Given the description of an element on the screen output the (x, y) to click on. 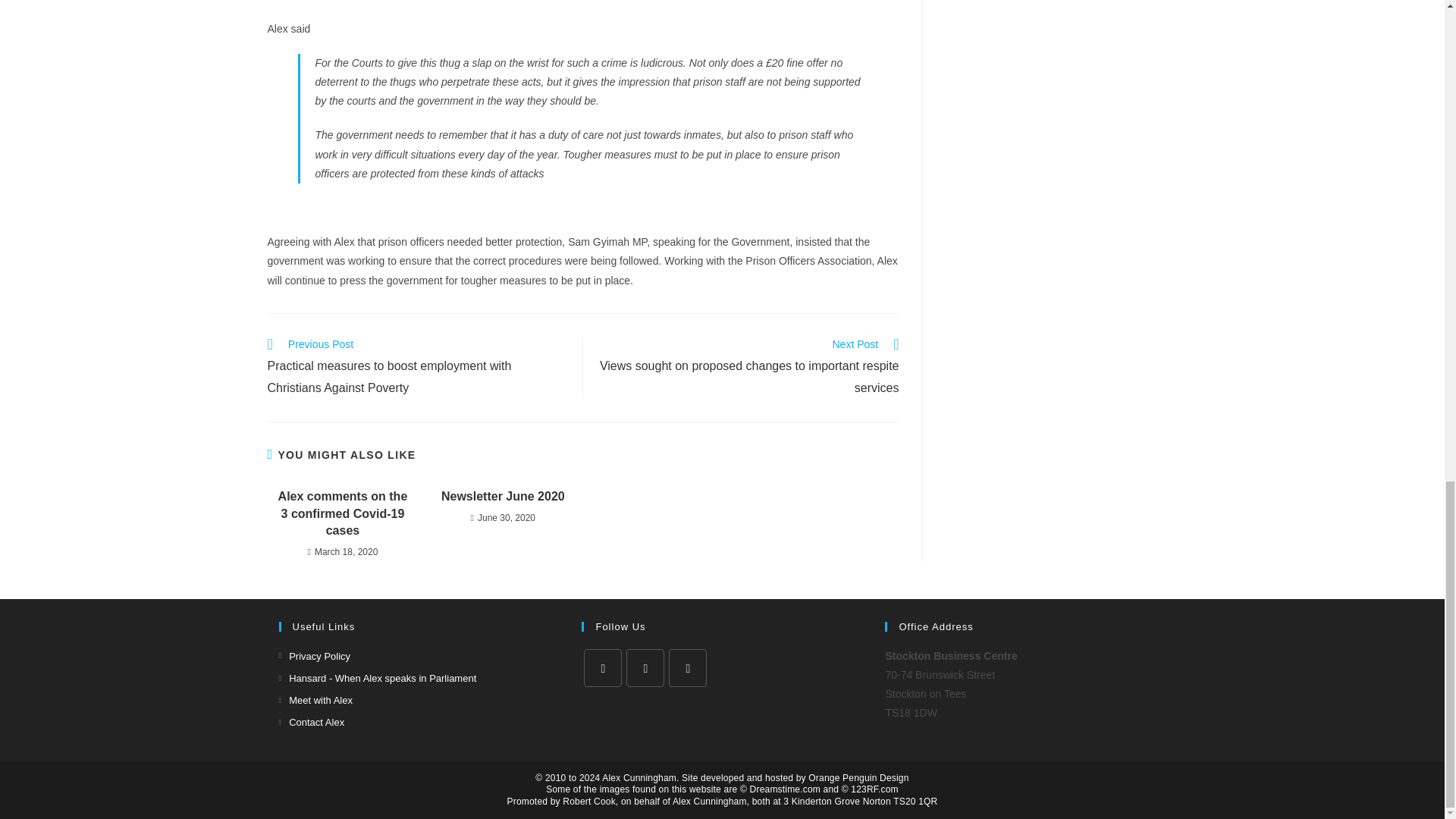
Contact Alex (312, 722)
Alex comments on the 3 confirmed Covid-19 cases (342, 513)
Hansard - When Alex speaks in Parliament (378, 678)
Meet with Alex (315, 700)
Privacy Policy (314, 656)
Orange Penguin Design (858, 777)
Orange Penguin Design Limited (858, 777)
Newsletter June 2020 (502, 496)
